Given the description of an element on the screen output the (x, y) to click on. 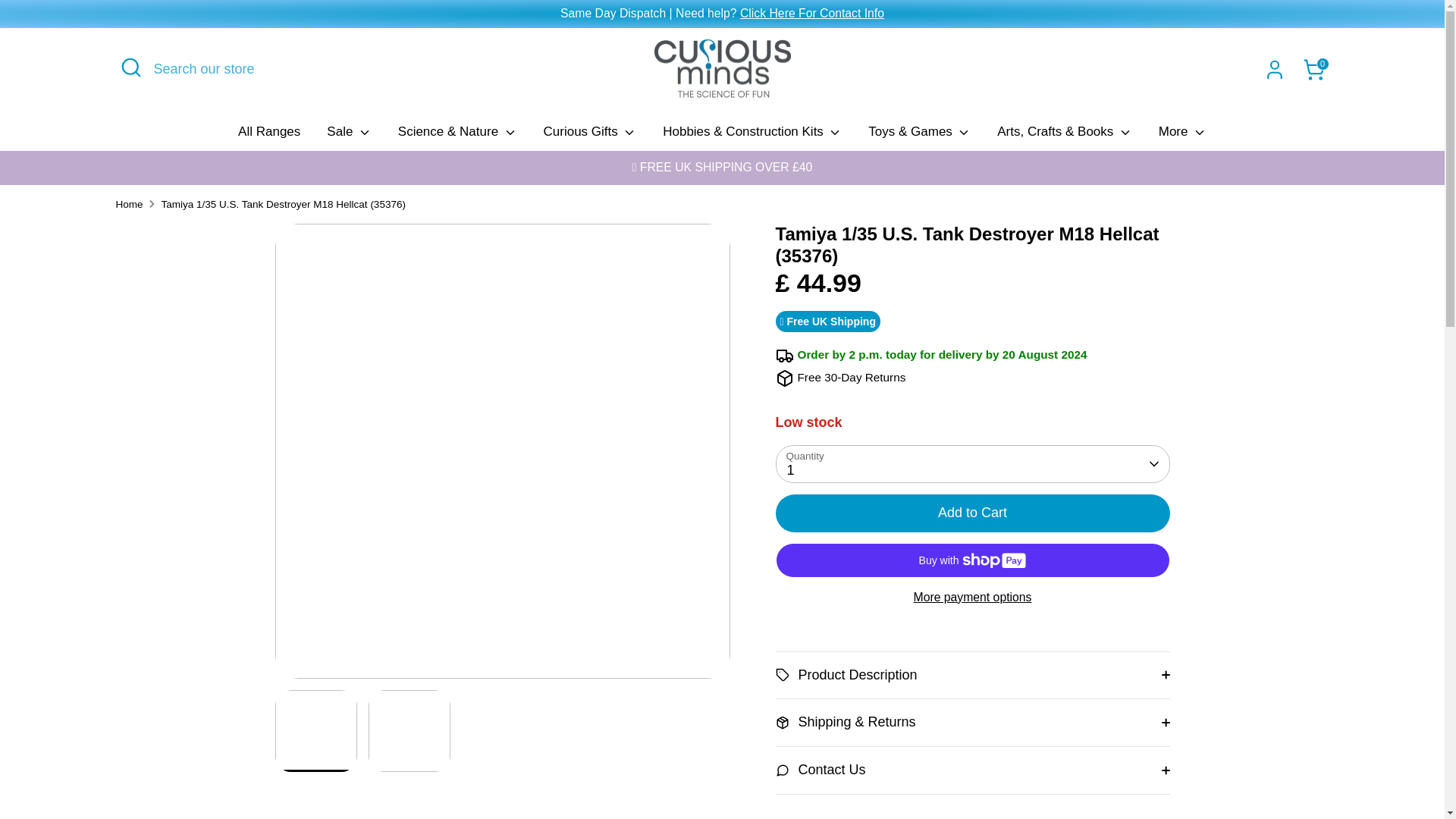
0 (1312, 69)
Click Here For Contact Info (811, 12)
Get In Touch With Curious Minds (811, 12)
